Given the description of an element on the screen output the (x, y) to click on. 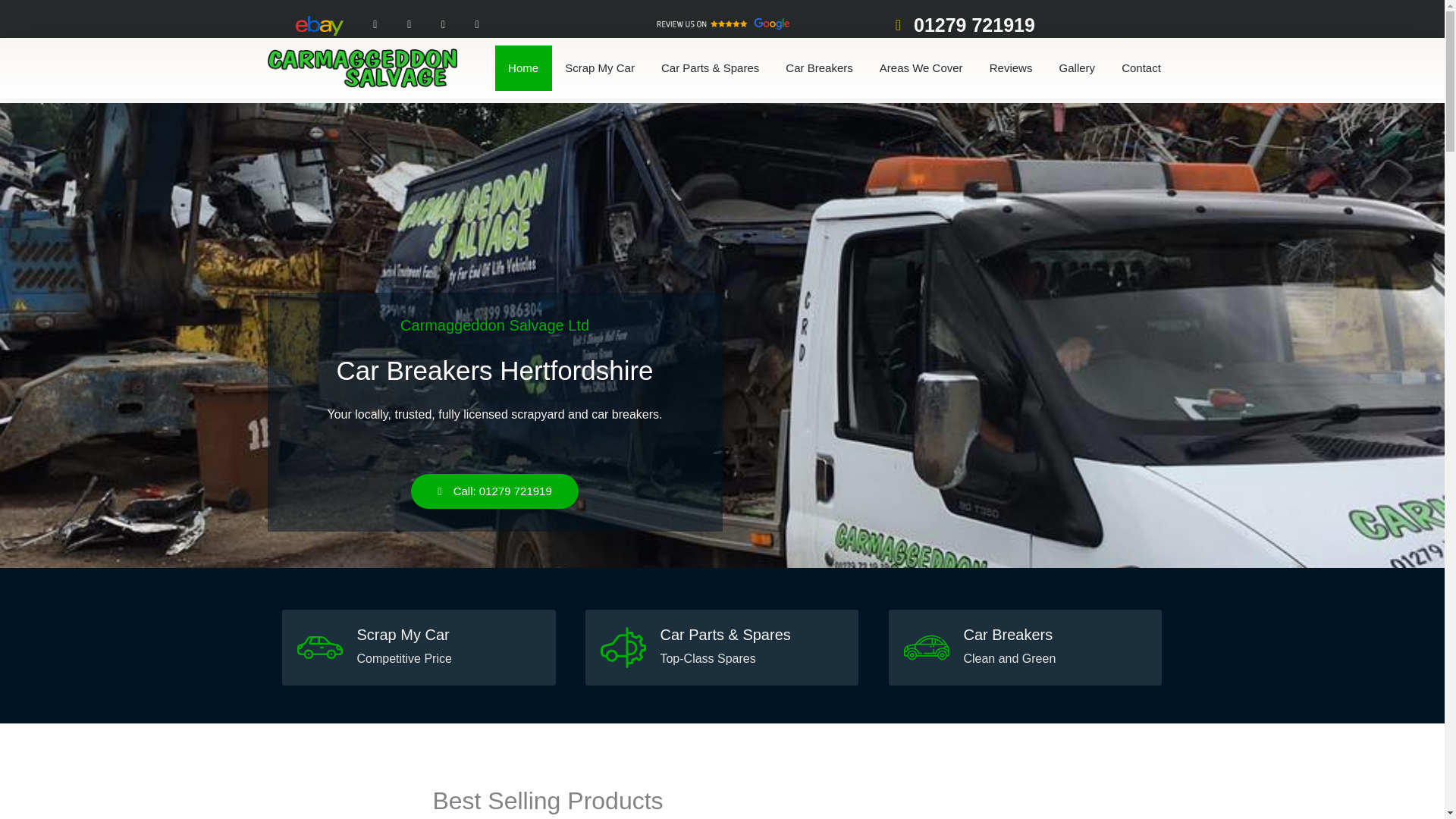
Contact (1141, 67)
Google (443, 25)
Gallery (1076, 67)
Scrap My Car (599, 67)
01279 721919 (958, 24)
Home (523, 67)
Envelope (477, 25)
Instagram (408, 25)
Car Breakers (819, 67)
Facebook-f (374, 25)
Areas We Cover (920, 67)
Reviews (1010, 67)
